Given the description of an element on the screen output the (x, y) to click on. 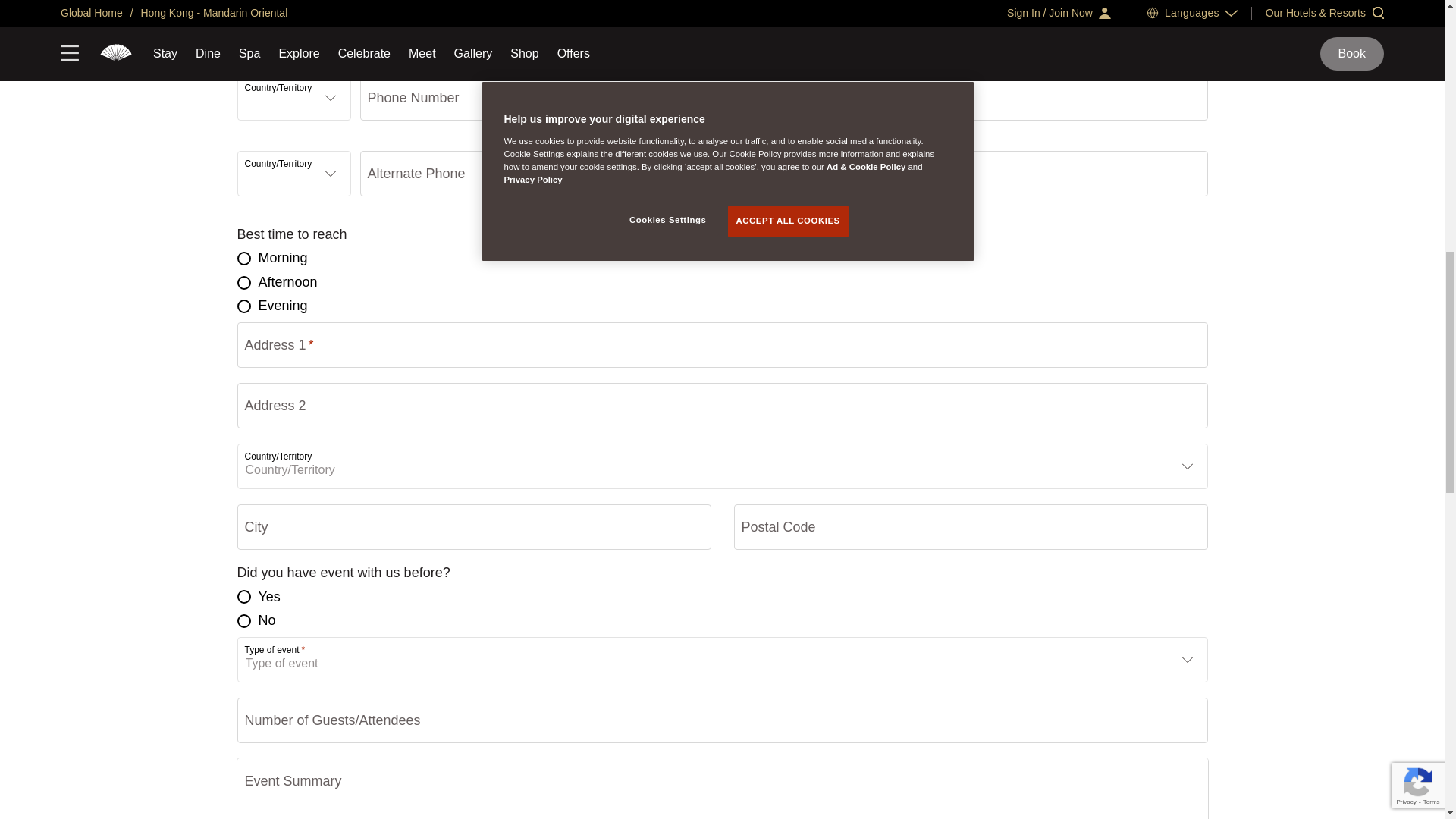
Yes (242, 596)
Afternoon (242, 282)
Morning (242, 258)
No (242, 621)
Evening (242, 305)
